Given the description of an element on the screen output the (x, y) to click on. 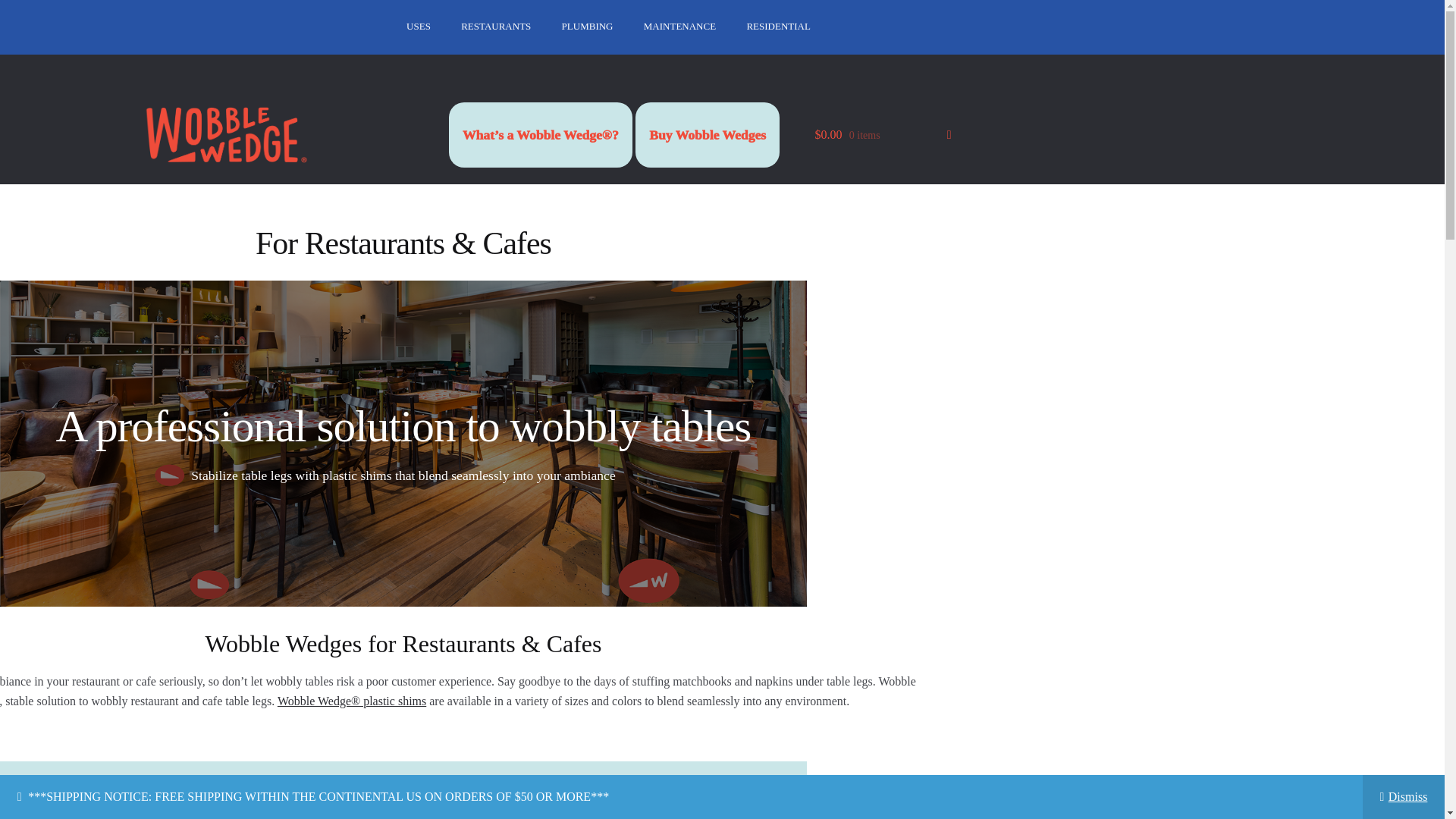
MAINTENANCE (679, 27)
View your shopping cart (883, 134)
USES (418, 27)
RESTAURANTS (495, 27)
PLUMBING (588, 27)
Buy Wobble Wedges (707, 134)
RESIDENTIAL (777, 27)
